Given the description of an element on the screen output the (x, y) to click on. 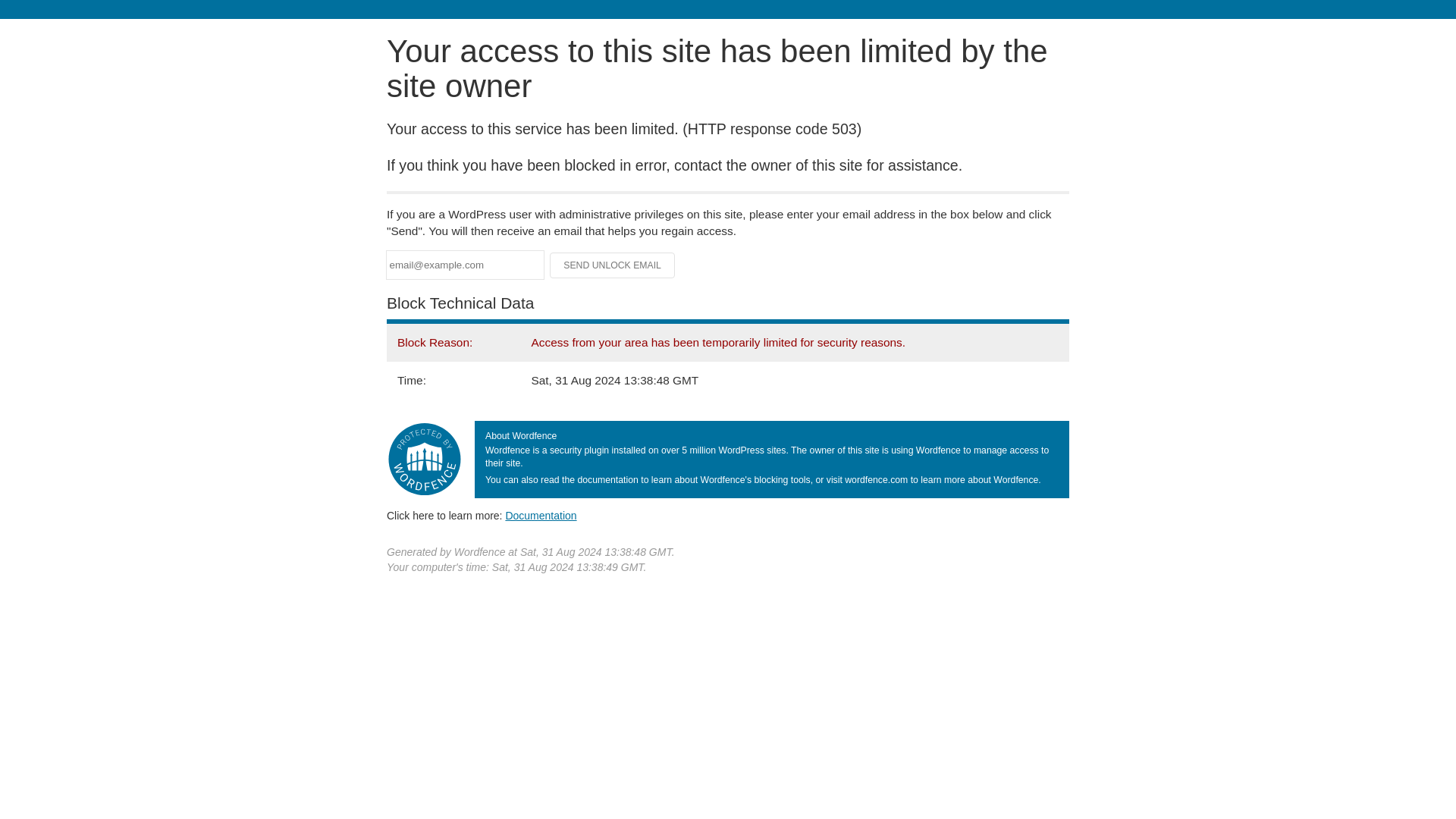
Send Unlock Email (612, 265)
Documentation (540, 515)
Send Unlock Email (612, 265)
